Given the description of an element on the screen output the (x, y) to click on. 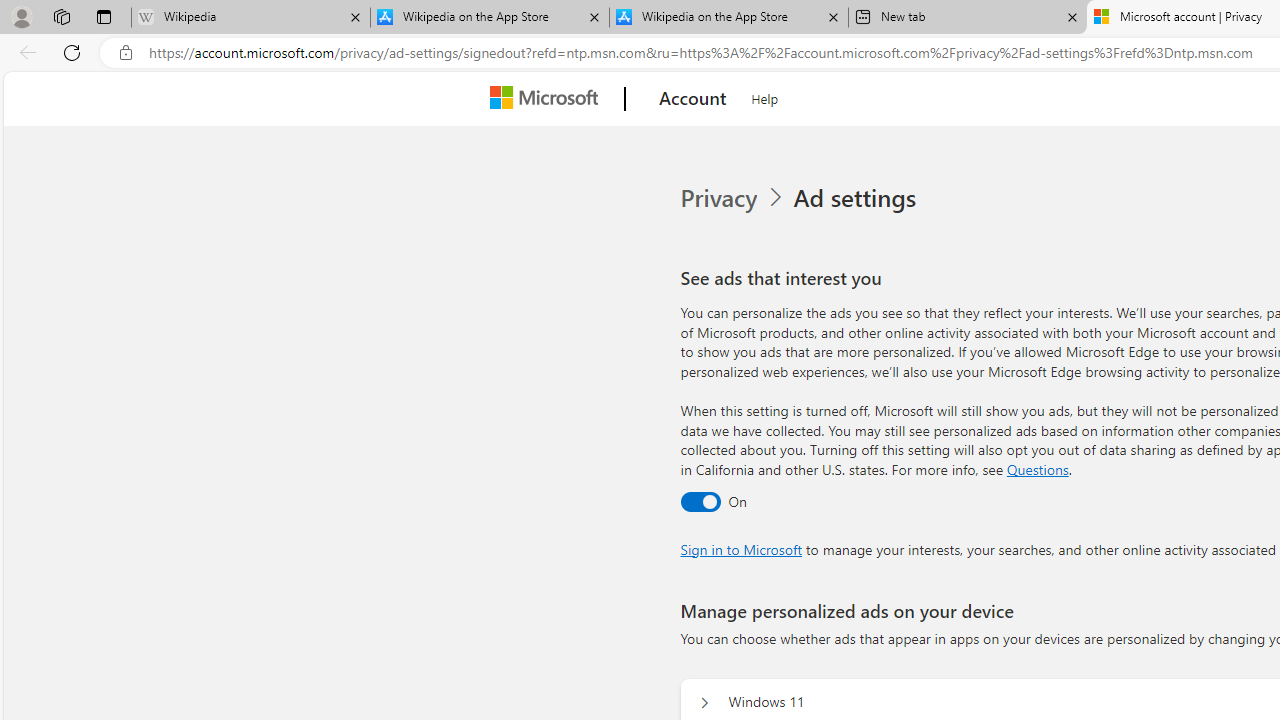
Manage personalized ads on your device Windows 11 (704, 702)
Go to Questions section (1037, 468)
Ad settings toggle (699, 501)
Sign in to Microsoft (740, 548)
Ad settings (858, 197)
